Given the description of an element on the screen output the (x, y) to click on. 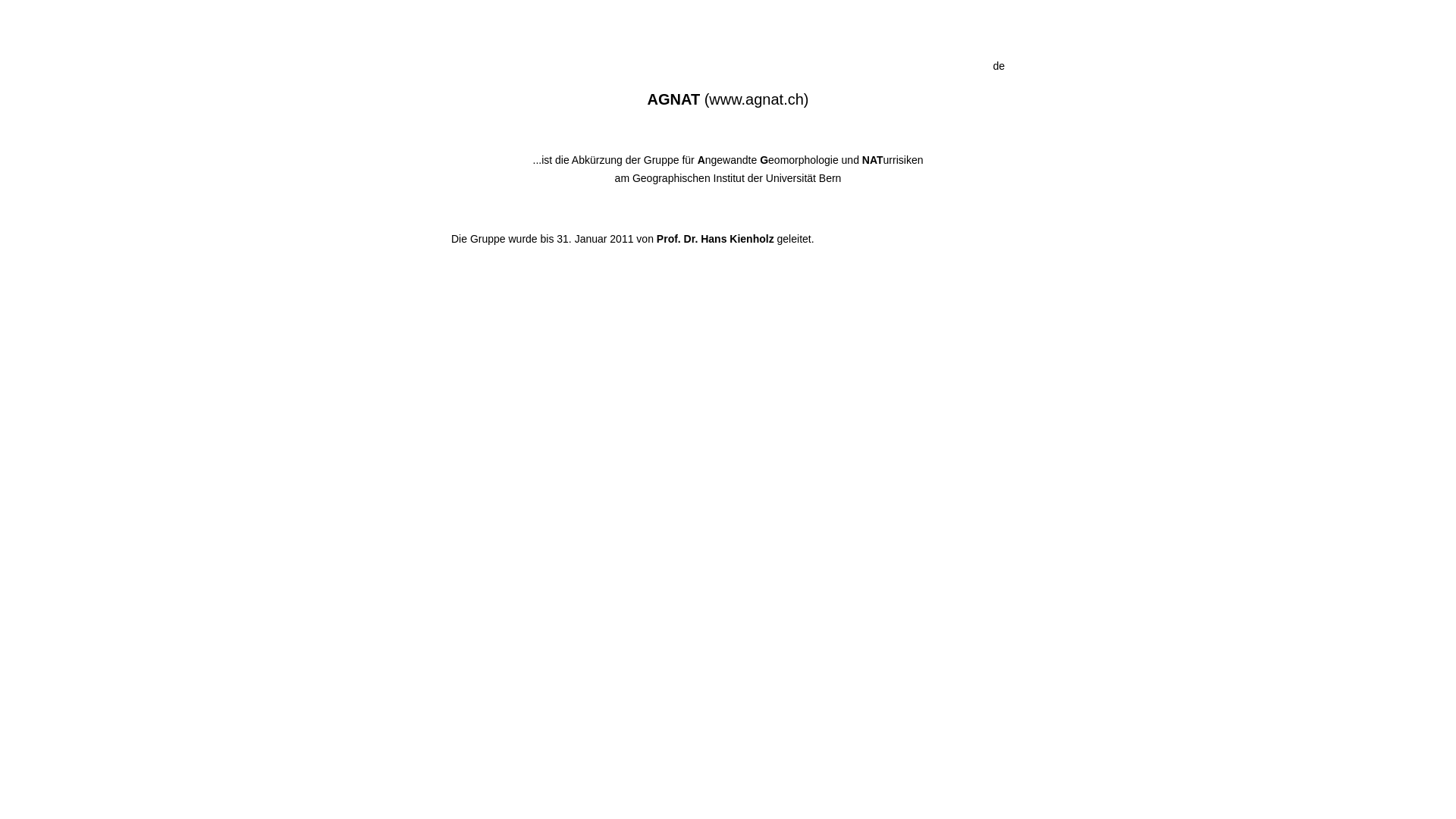
de Element type: text (998, 65)
